Given the description of an element on the screen output the (x, y) to click on. 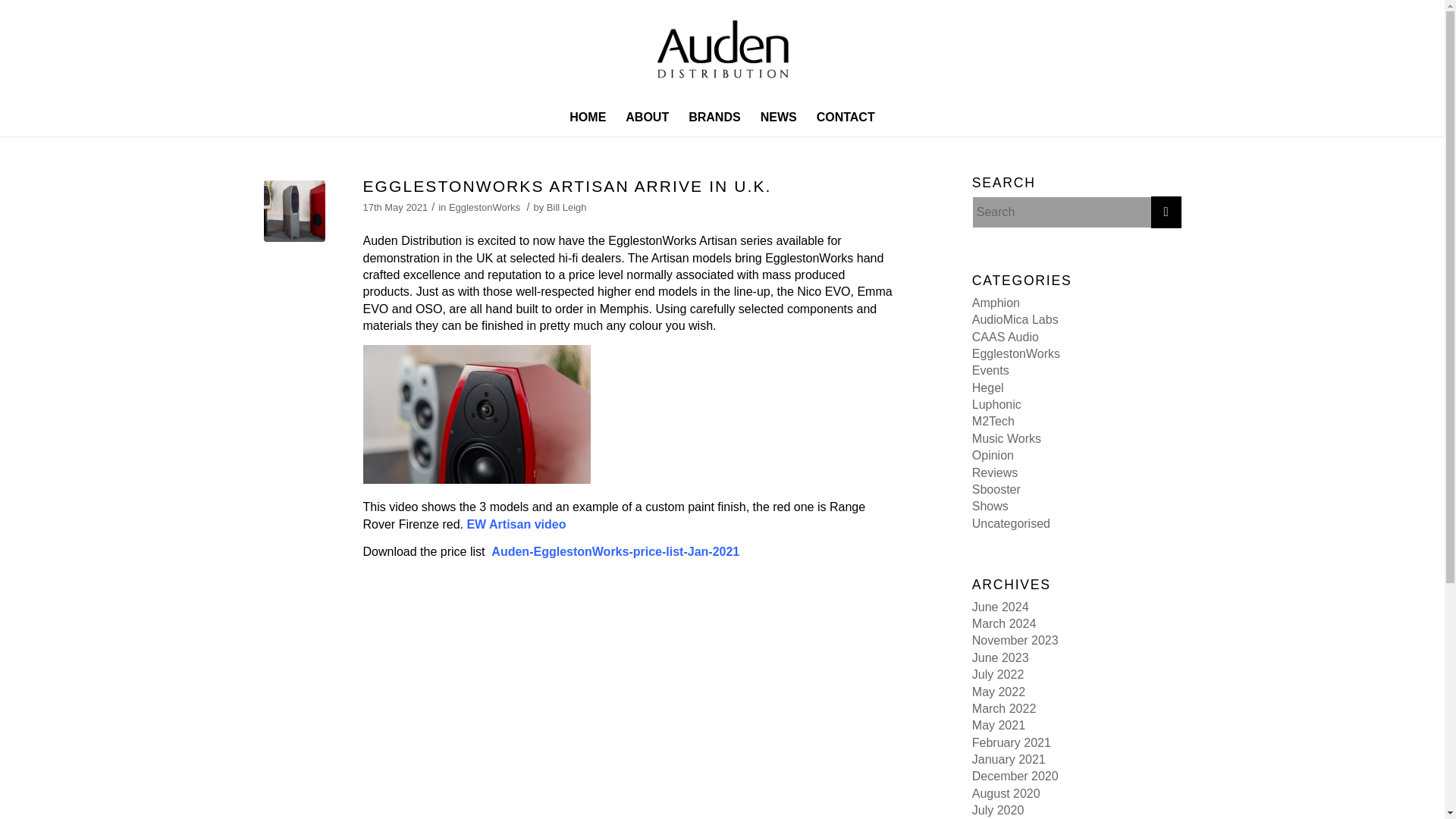
Opinion (992, 454)
Hegel (988, 387)
PICTURE 1 (293, 210)
June 2024 (1000, 606)
Uncategorised (1010, 522)
CAAS Audio (1005, 336)
Amphion (996, 302)
June 2023 (1000, 657)
Permanent Link: EgglestonWorks Artisan arrive in U.K. (566, 185)
Music Works (1006, 438)
NEWS (778, 117)
EgglestonWorks (1015, 353)
CONTACT (845, 117)
March 2024 (1004, 623)
Bill Leigh (566, 206)
